Given the description of an element on the screen output the (x, y) to click on. 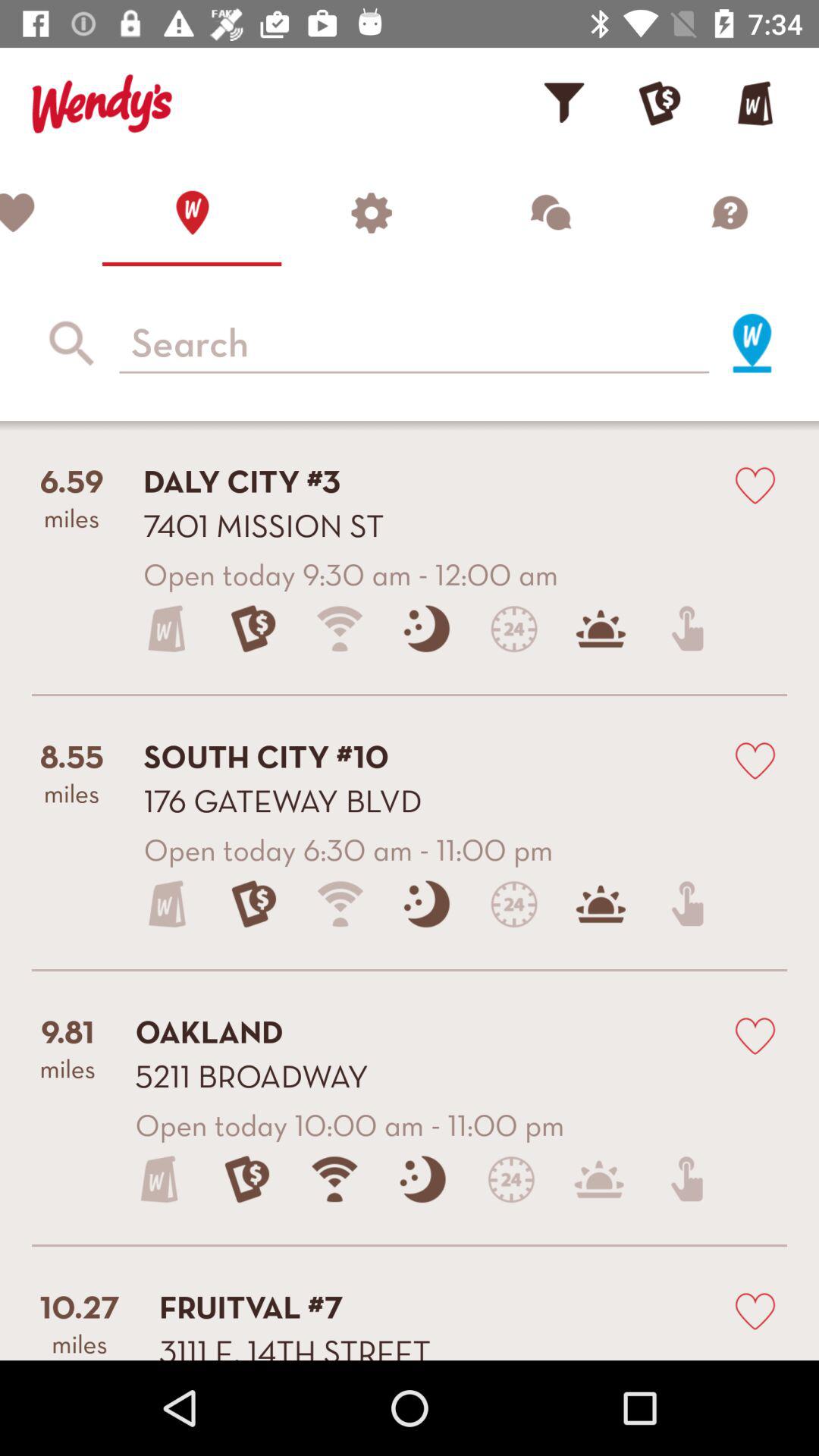
toggle favorite (755, 484)
